Given the description of an element on the screen output the (x, y) to click on. 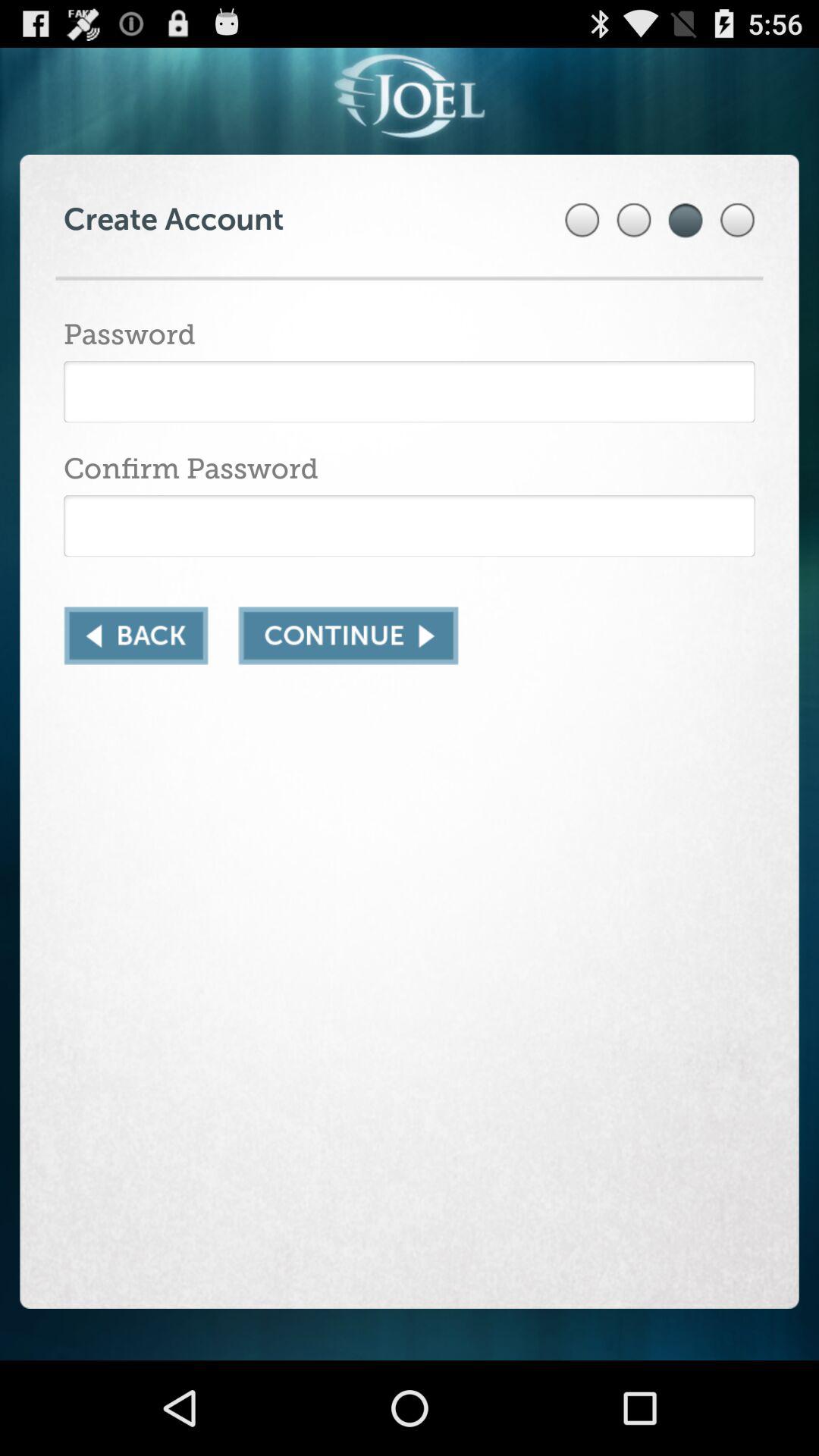
continue (348, 635)
